Given the description of an element on the screen output the (x, y) to click on. 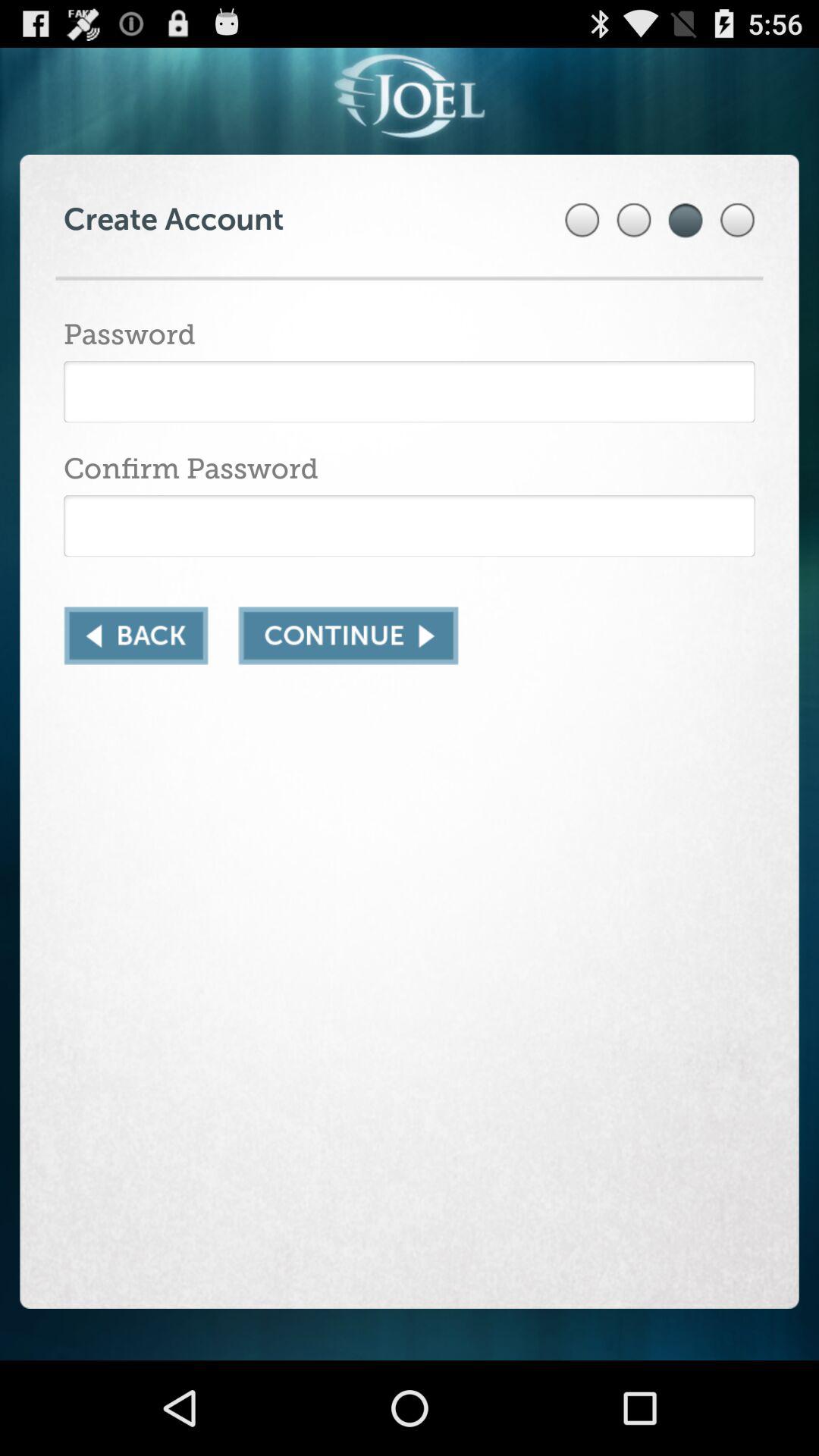
continue (348, 635)
